Given the description of an element on the screen output the (x, y) to click on. 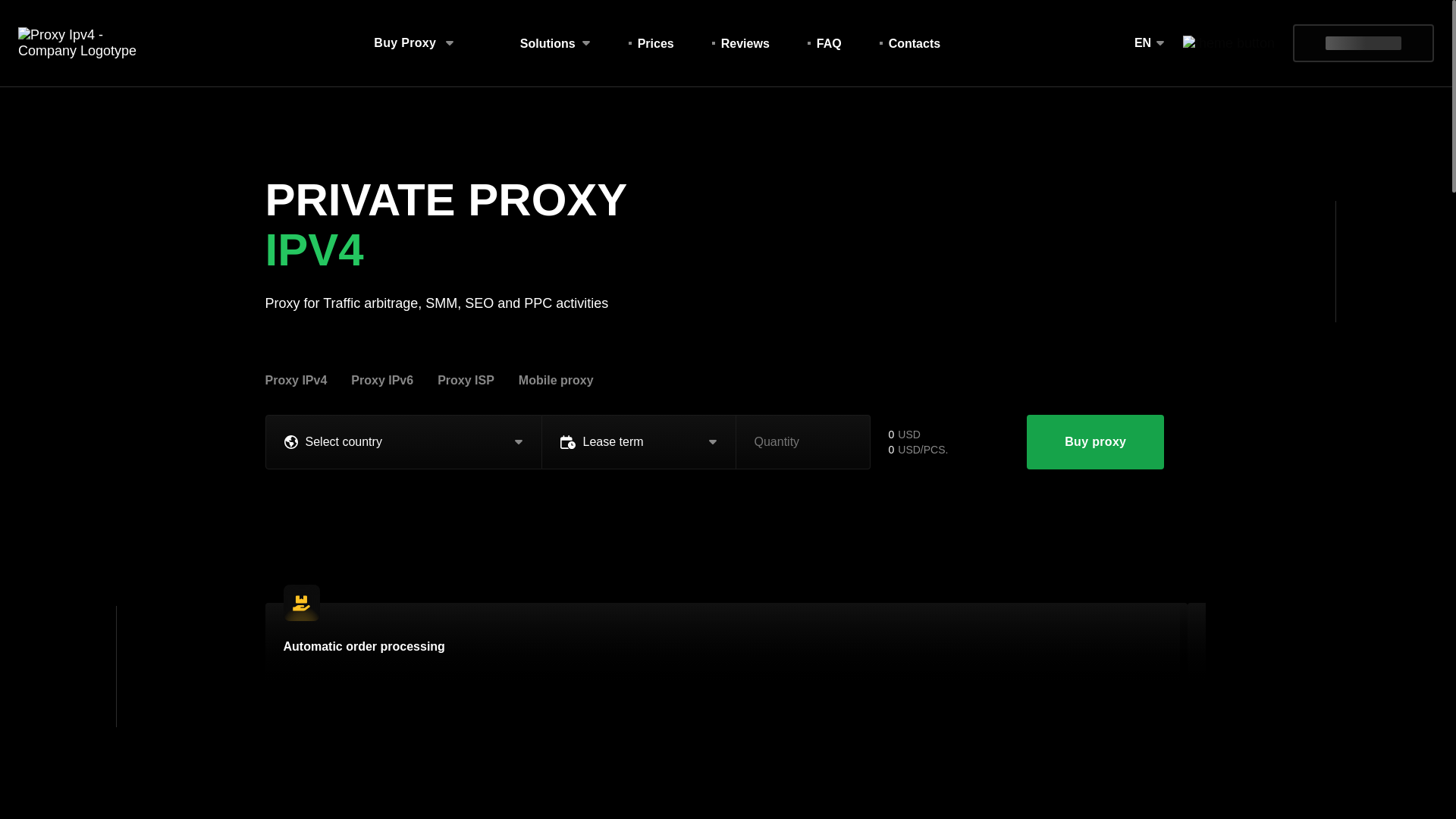
Contacts (914, 43)
Buy Proxy (413, 43)
FAQ (729, 43)
FAQ (828, 43)
FAQ (828, 43)
Reviews (824, 43)
Reviews (745, 43)
Prices (740, 43)
Contacts (651, 43)
Reviews (914, 43)
Prices (745, 43)
Mobile proxy (655, 43)
Solutions (556, 380)
Proxy IPv4 (555, 43)
